Given the description of an element on the screen output the (x, y) to click on. 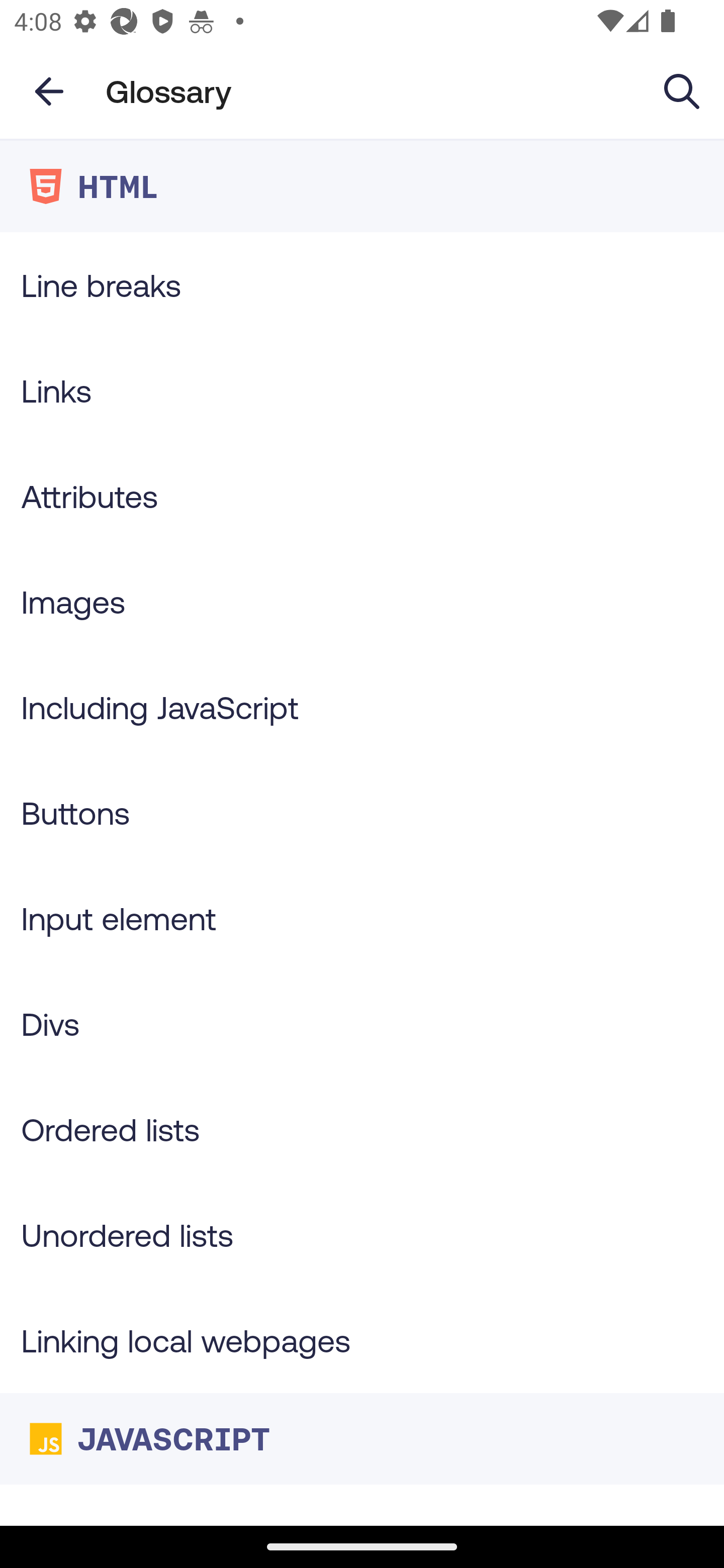
Navigate up (49, 91)
Search Glossary (681, 90)
HTML (362, 186)
Line breaks (362, 284)
Links (362, 390)
Attributes (362, 495)
Images (362, 600)
Including JavaScript (362, 706)
Buttons (362, 812)
Input element (362, 917)
Divs (362, 1023)
Ordered lists (362, 1129)
Unordered lists (362, 1234)
Linking local webpages (362, 1339)
JAVASCRIPT (362, 1438)
